Given the description of an element on the screen output the (x, y) to click on. 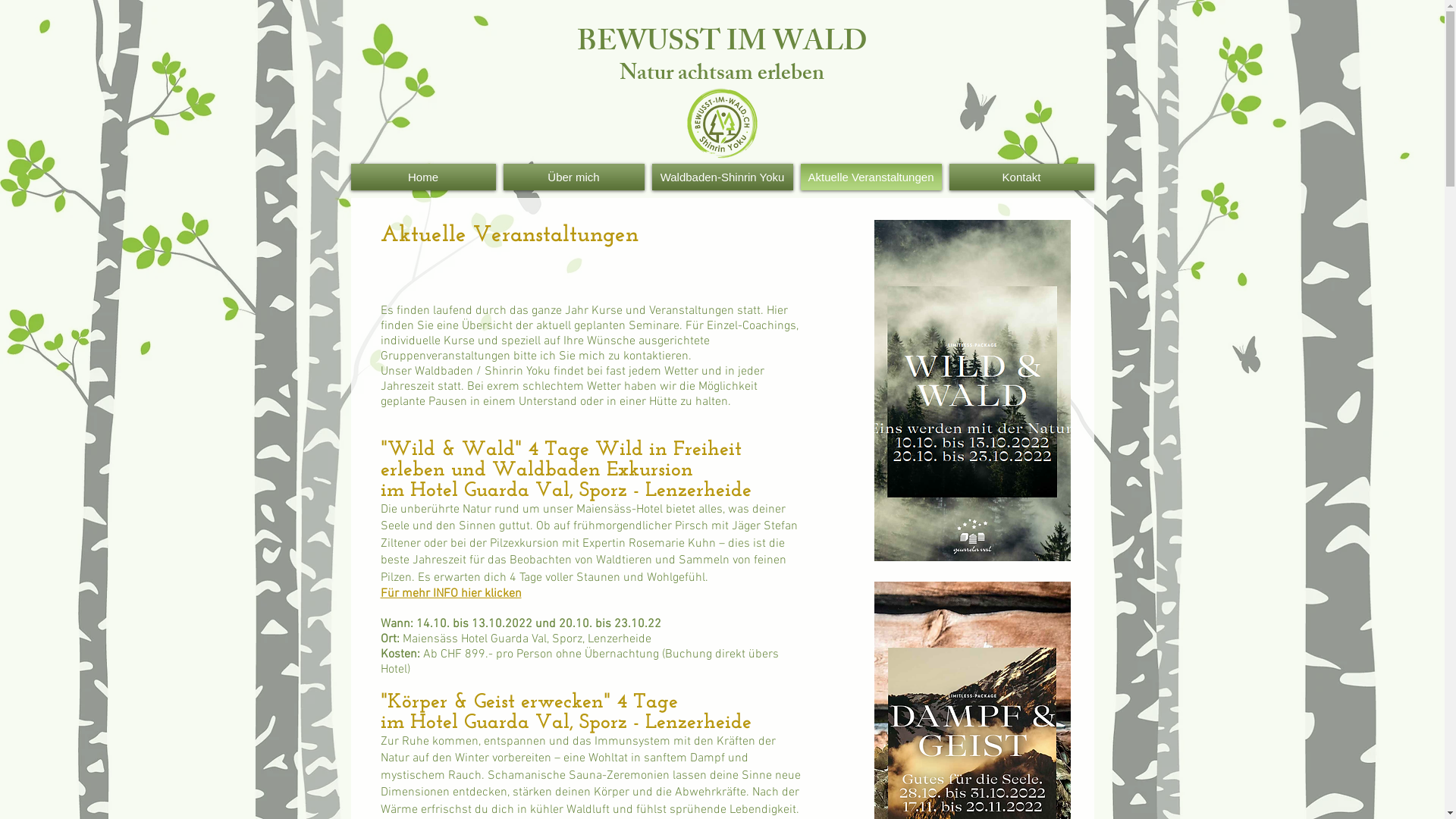
Kontakt Element type: text (1018, 176)
logo final transparent ohne text.png Element type: hover (722, 122)
Aktuelle Veranstaltungen Element type: text (870, 176)
Home Element type: text (424, 176)
Waldbaden-Shinrin Yoku Element type: text (721, 176)
